Given the description of an element on the screen output the (x, y) to click on. 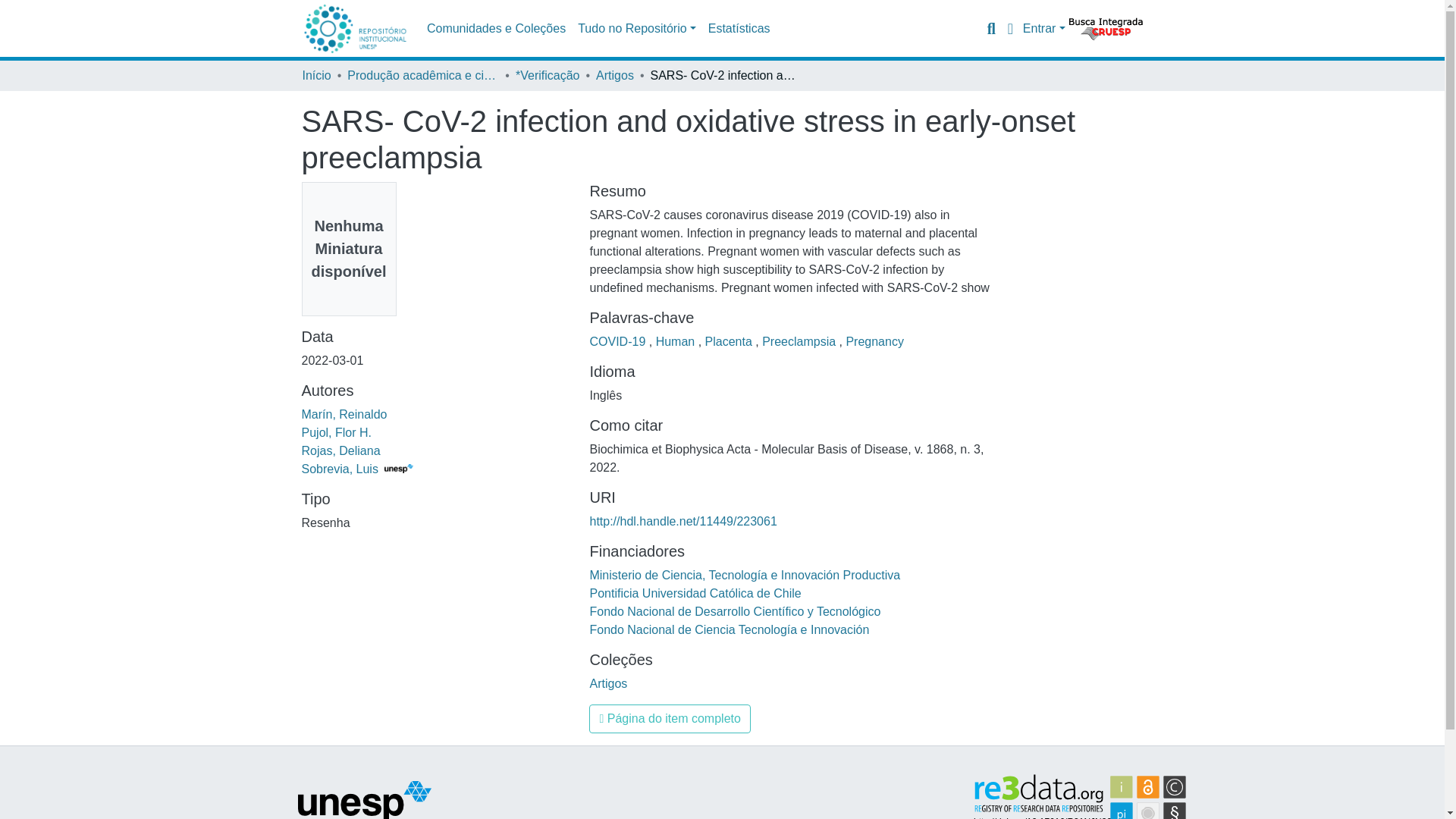
Artigos (608, 683)
Pregnancy (874, 341)
Preeclampsia (799, 341)
COVID-19 (618, 341)
Rojas, Deliana (340, 450)
Sobrevia, Luis (357, 468)
Placenta (729, 341)
Pesquisar (991, 28)
Entrar (1044, 28)
Human (677, 341)
Alternar idioma (1010, 28)
Artigos (614, 75)
Pujol, Flor H. (336, 431)
